Given the description of an element on the screen output the (x, y) to click on. 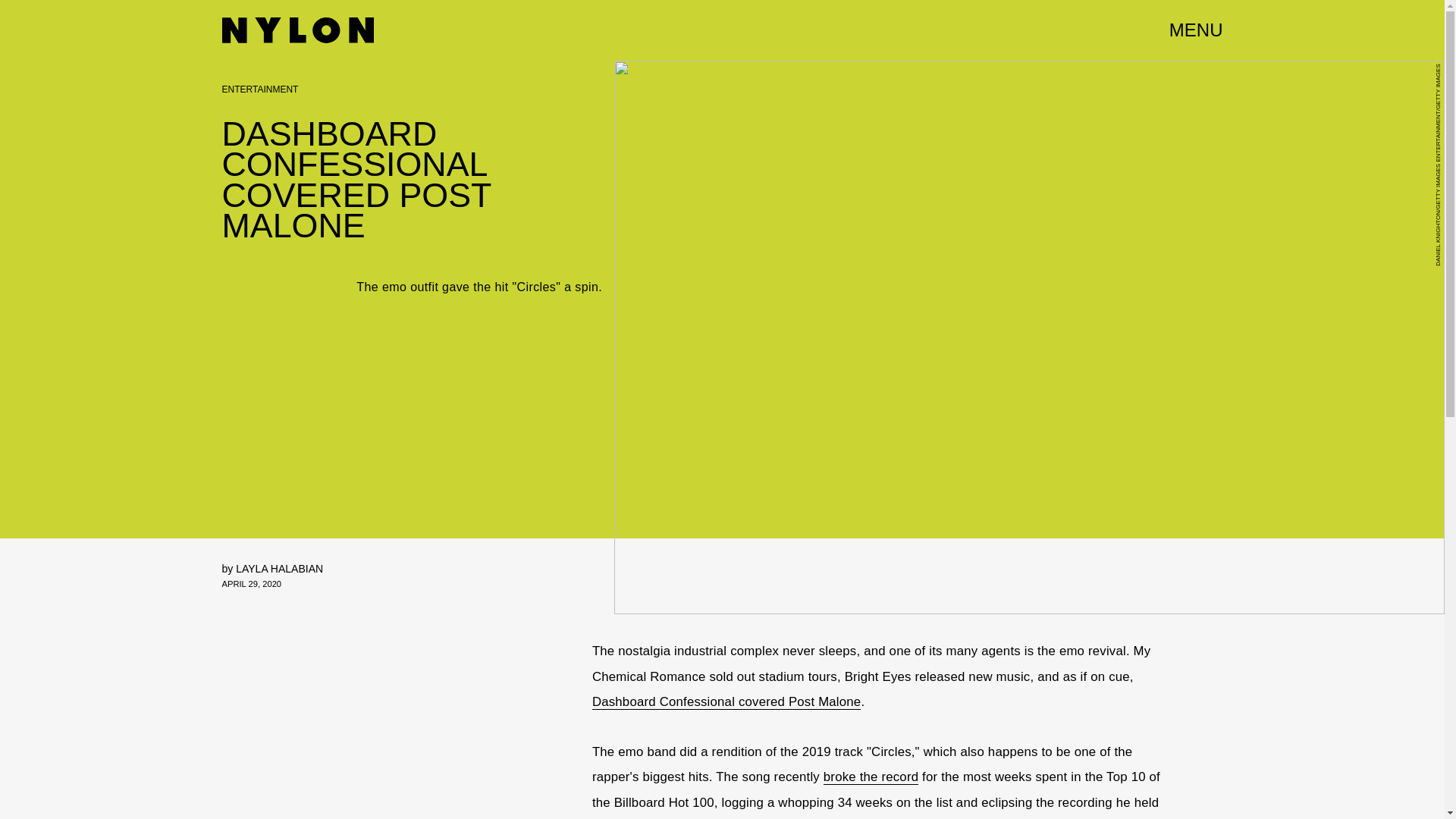
LAYLA HALABIAN (279, 568)
broke the record (871, 776)
Nylon (296, 30)
Dashboard Confessional covered Post Malone (726, 702)
